Given the description of an element on the screen output the (x, y) to click on. 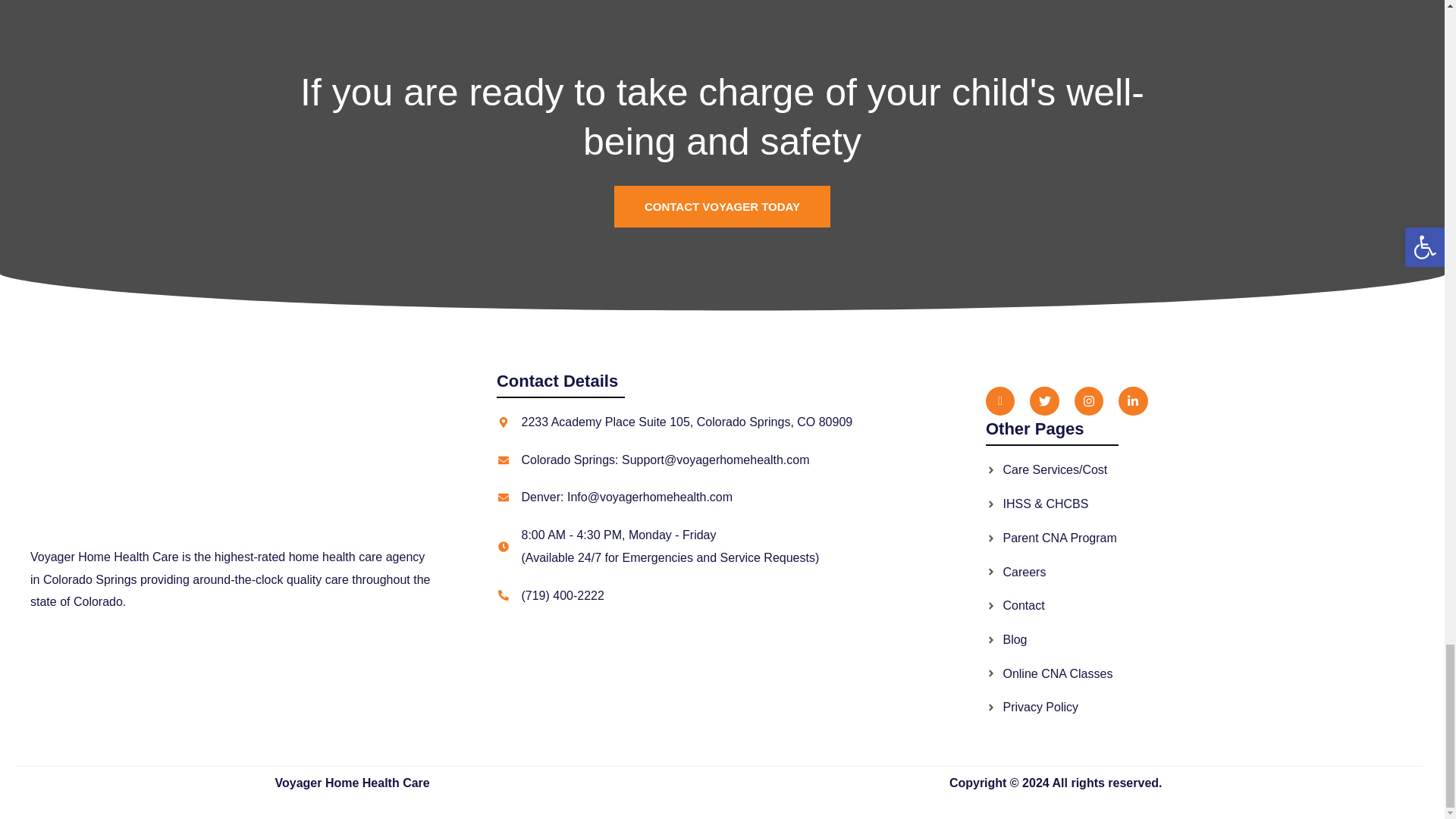
Careers (1207, 572)
Instagram (1088, 400)
Blog (1207, 639)
Contact (1207, 605)
Icon-facebook (999, 400)
Privacy Policy (1207, 707)
Parent CNA Program (1207, 538)
Linkedin-in (1132, 400)
Twitter (1043, 400)
Online CNA Classes (1207, 673)
CONTACT VOYAGER TODAY (721, 206)
